Given the description of an element on the screen output the (x, y) to click on. 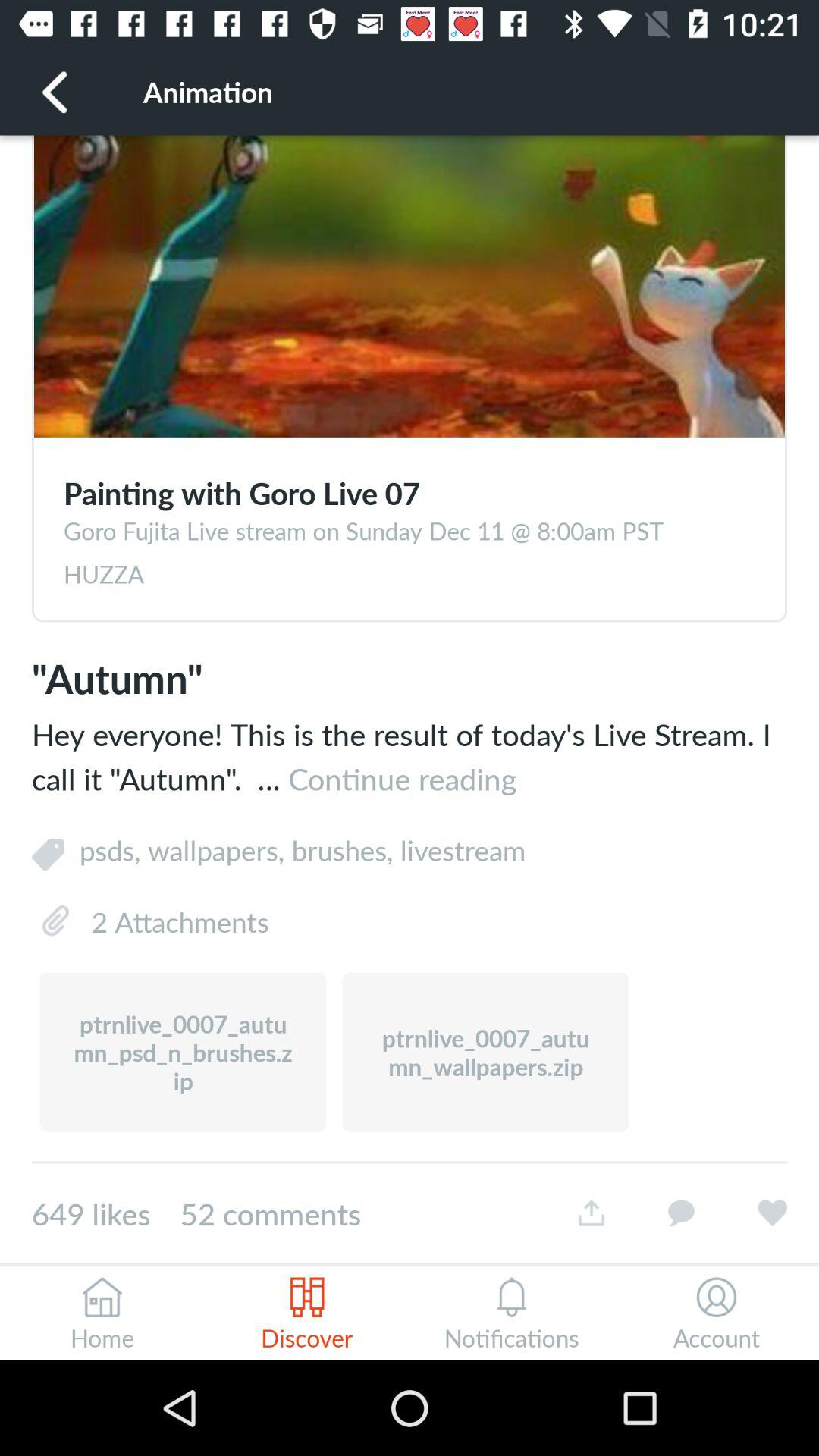
turn off item to the left of animation (55, 91)
